Given the description of an element on the screen output the (x, y) to click on. 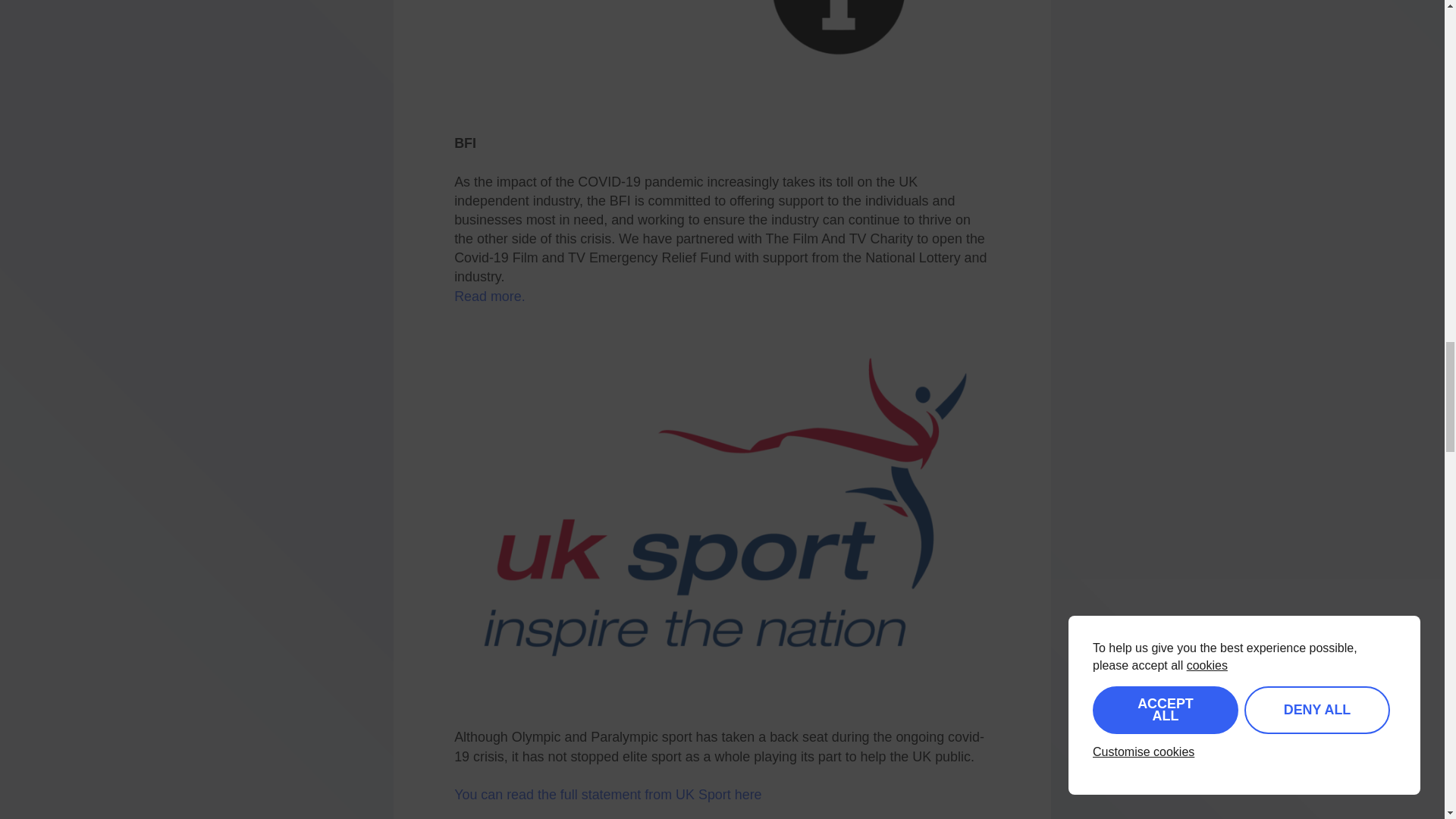
Read more. (489, 305)
You can read the full statement from UK Sport here (607, 794)
